Given the description of an element on the screen output the (x, y) to click on. 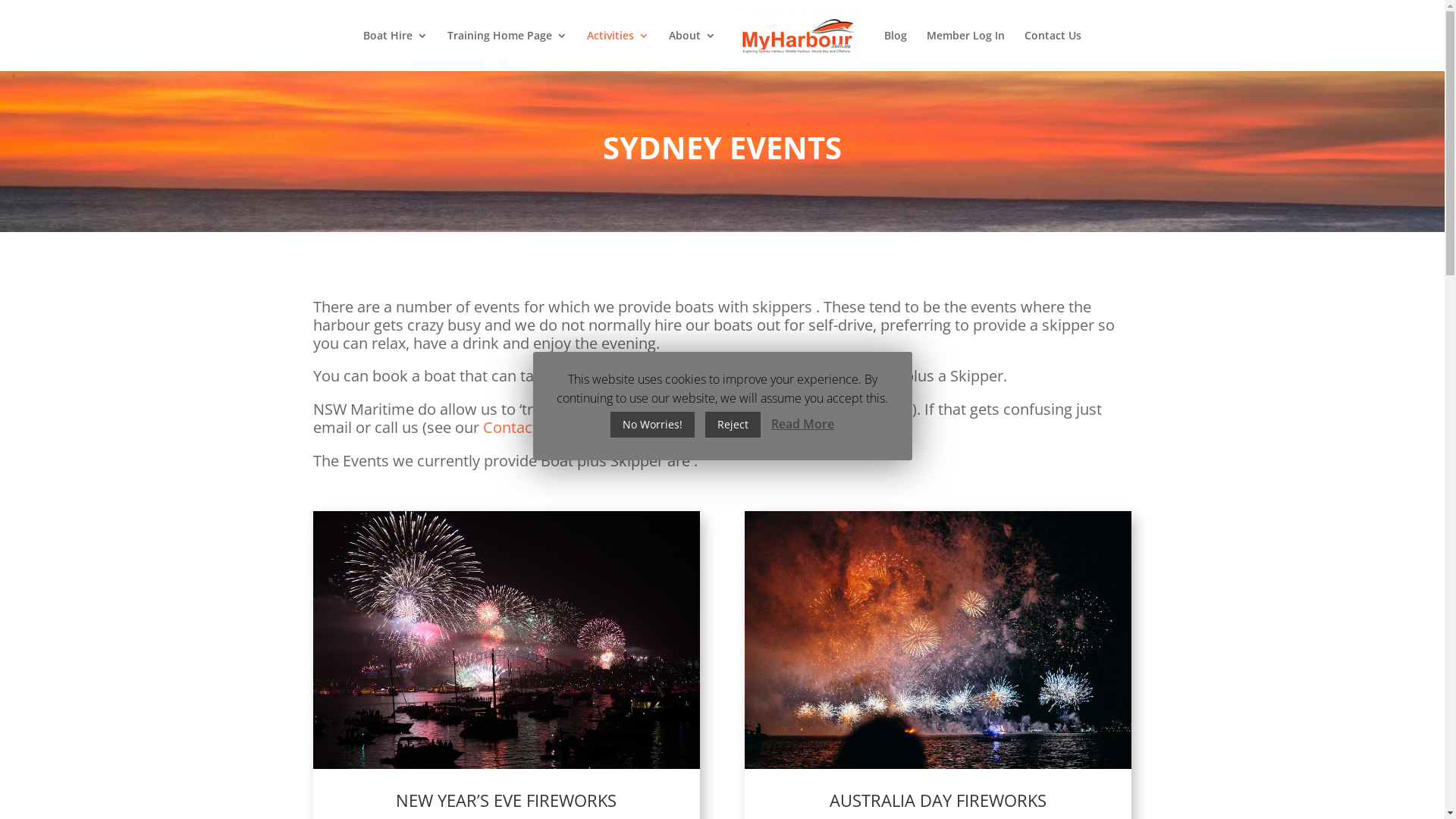
Boat Hire Element type: text (395, 50)
Contact Us Element type: text (1052, 50)
Training Home Page Element type: text (507, 50)
No Worries! Element type: text (652, 424)
About Element type: text (691, 50)
Blog Element type: text (895, 50)
Contact Page Element type: text (528, 427)
Activities Element type: text (617, 50)
Reject Element type: text (732, 424)
Read More Element type: text (802, 424)
Member Log In Element type: text (965, 50)
